Given the description of an element on the screen output the (x, y) to click on. 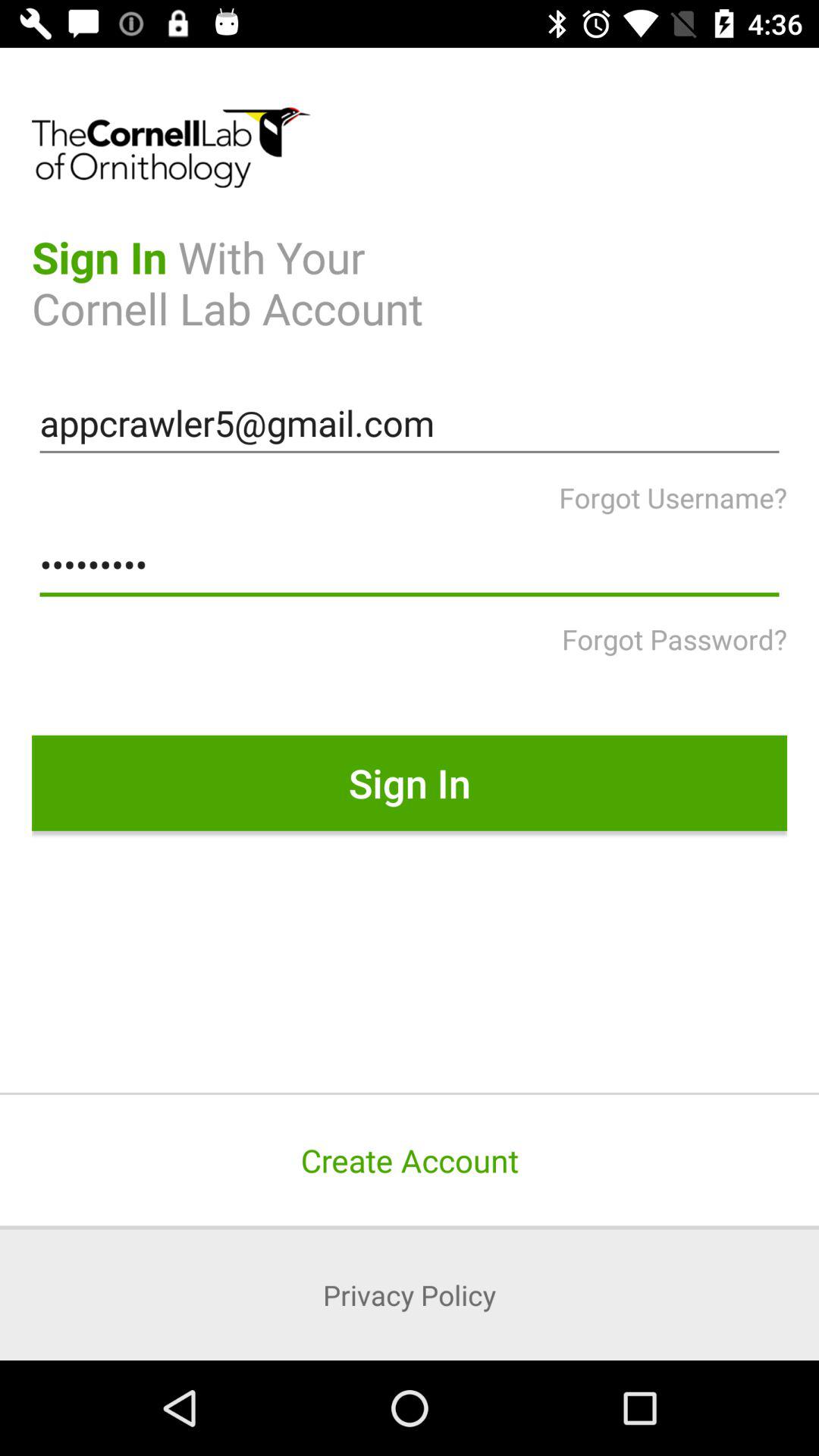
choose appcrawler5@gmail.com item (409, 423)
